Given the description of an element on the screen output the (x, y) to click on. 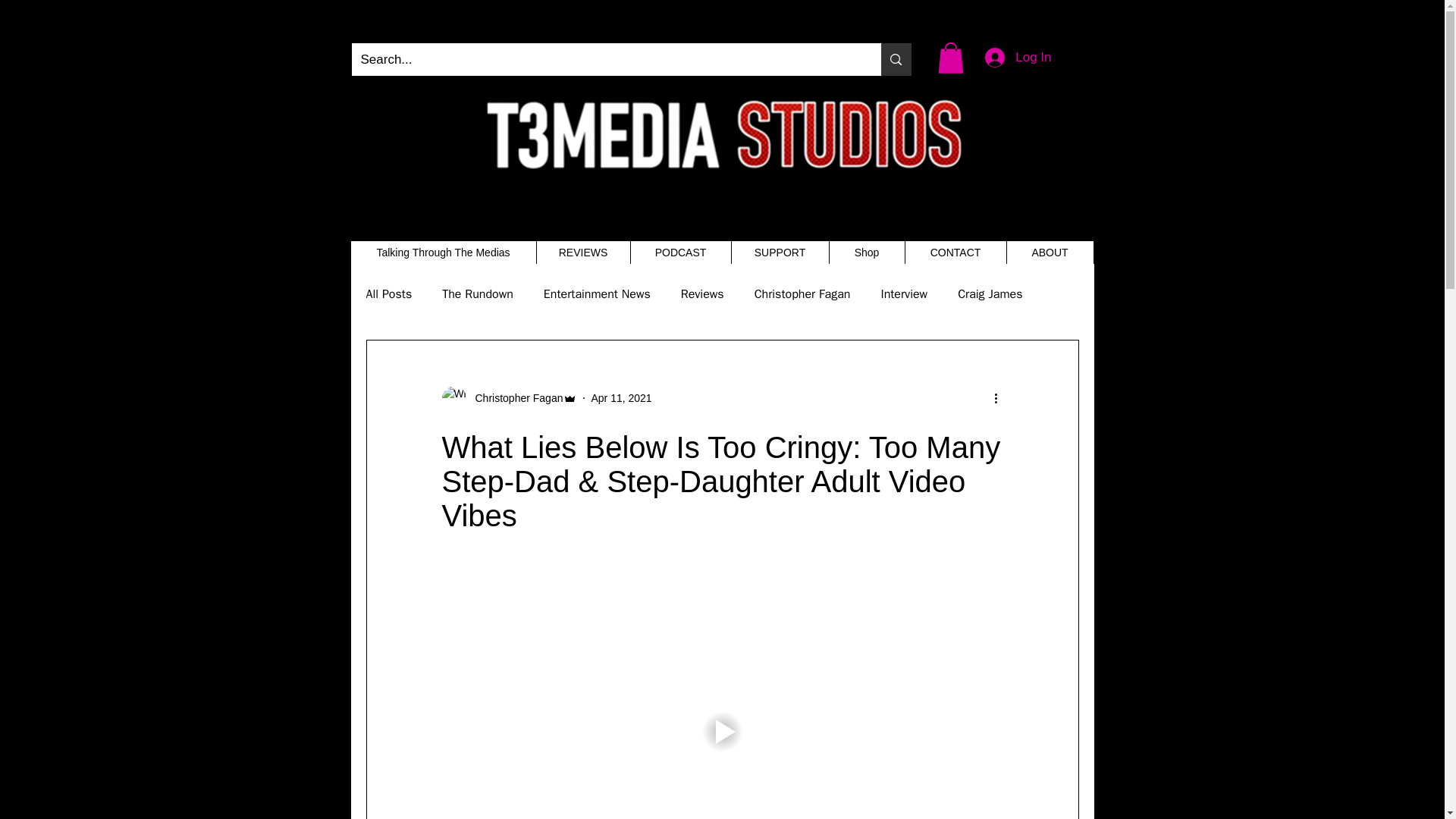
SUPPORT (779, 252)
PODCAST (679, 252)
Reviews (702, 294)
The Rundown (477, 294)
ABOUT (1049, 252)
Christopher Fagan (802, 294)
Talking Through The Medias (442, 252)
Interview (903, 294)
CONTACT (955, 252)
Entertainment News (596, 294)
